Given the description of an element on the screen output the (x, y) to click on. 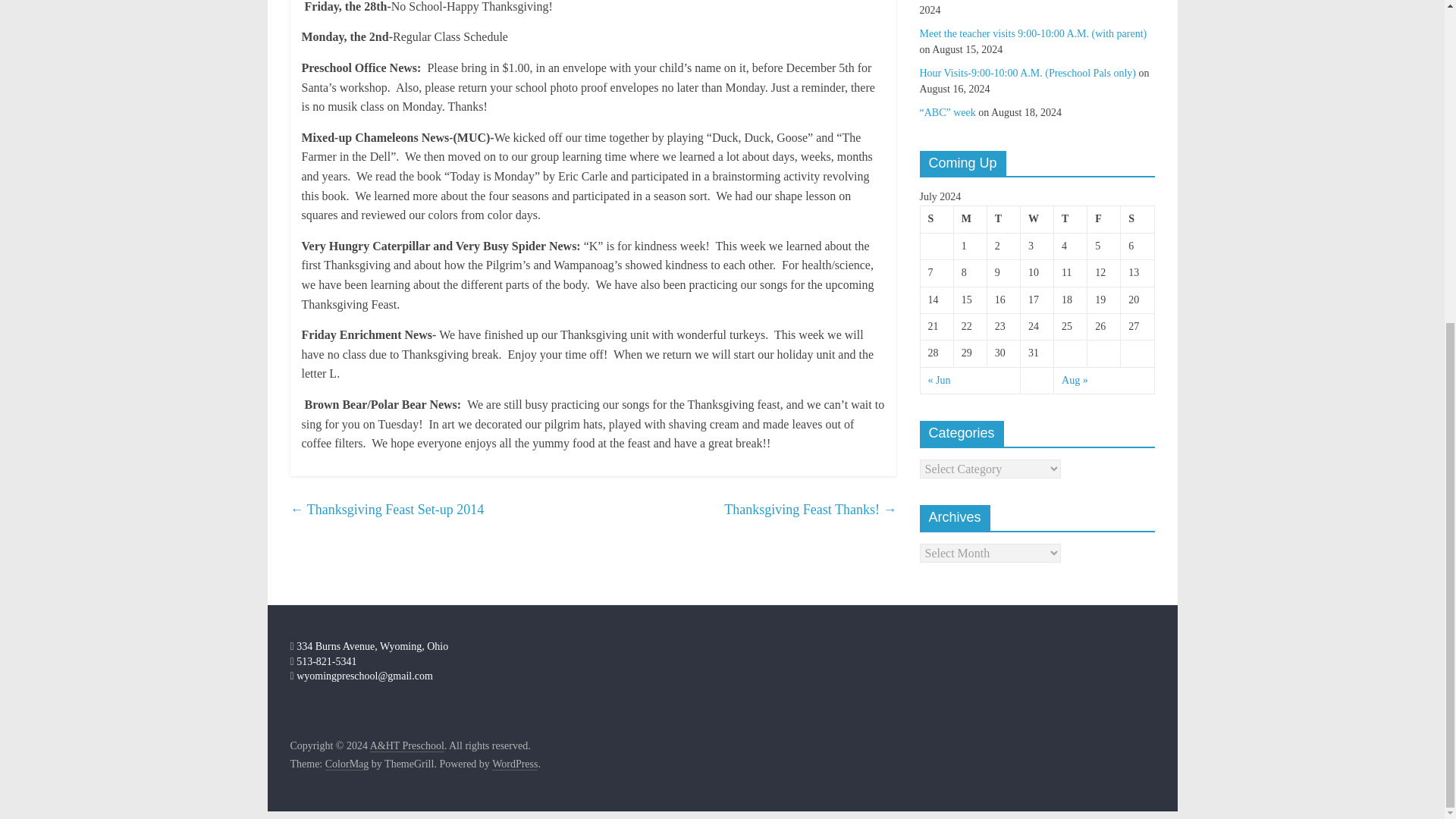
Monday (970, 219)
Thursday (1070, 219)
ColorMag (346, 764)
Saturday (1137, 219)
WordPress (514, 764)
Wednesday (1036, 219)
Sunday (936, 219)
Previous month (939, 379)
Tuesday (1003, 219)
334 Burns Avenue, Wyoming, Ohio (368, 645)
Friday (1104, 219)
513-821-5341 (322, 661)
